Given the description of an element on the screen output the (x, y) to click on. 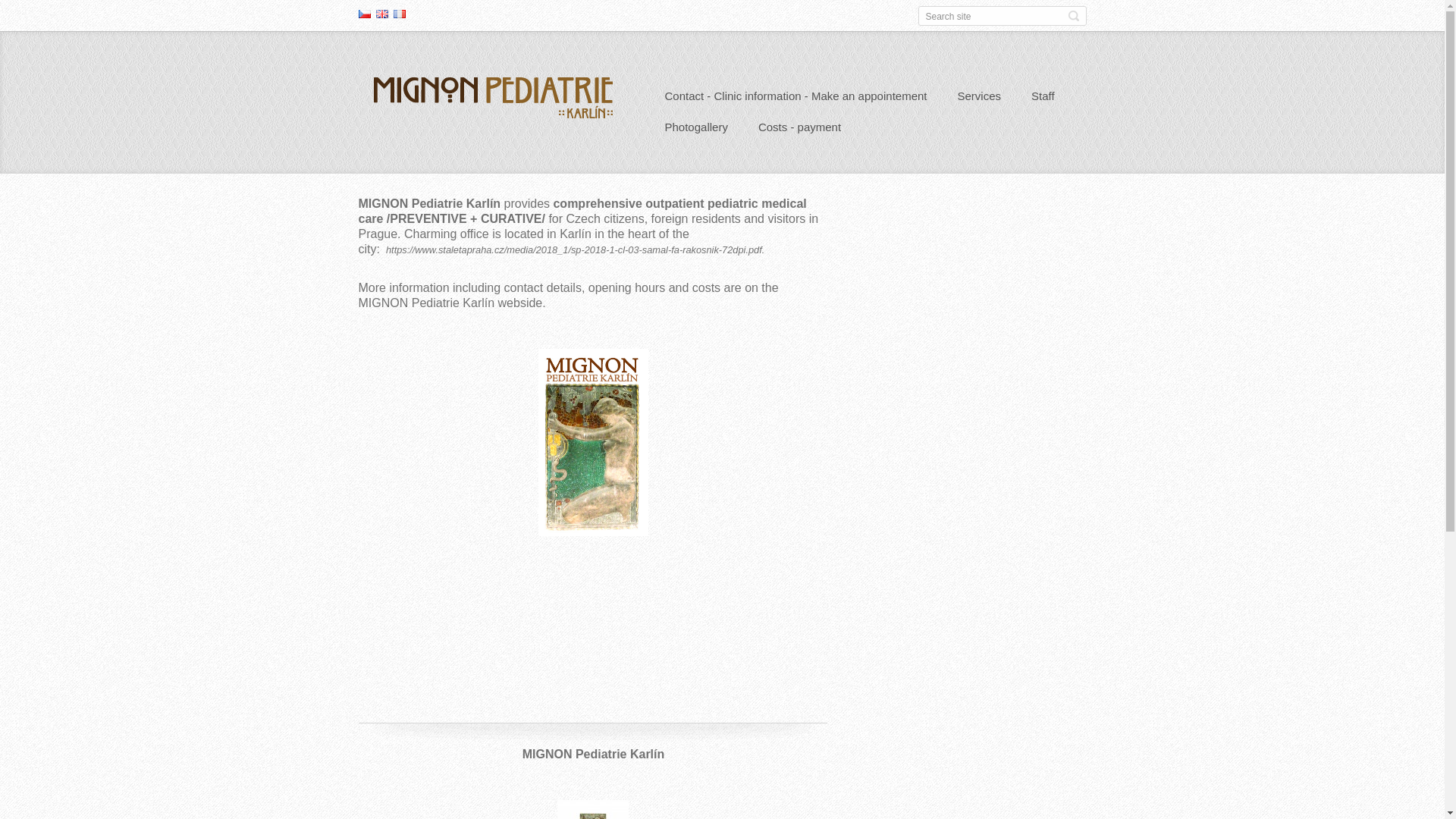
Services (979, 97)
Contact - Clinic information - Make an appointement (795, 97)
Staff (1043, 97)
Costs - payment (799, 128)
Search (1072, 15)
Photogallery (695, 128)
English (381, 13)
